Given the description of an element on the screen output the (x, y) to click on. 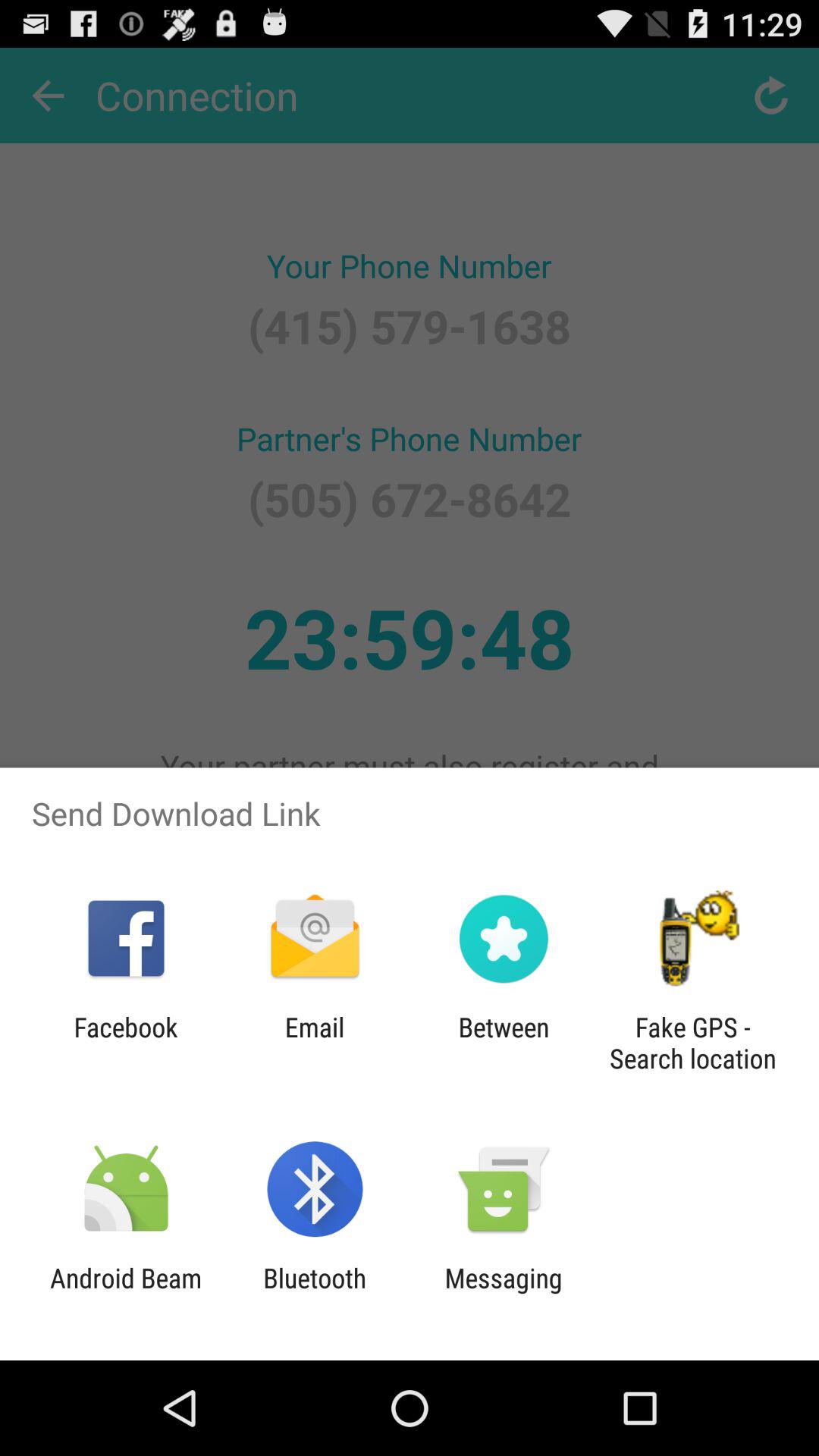
choose email (314, 1042)
